Given the description of an element on the screen output the (x, y) to click on. 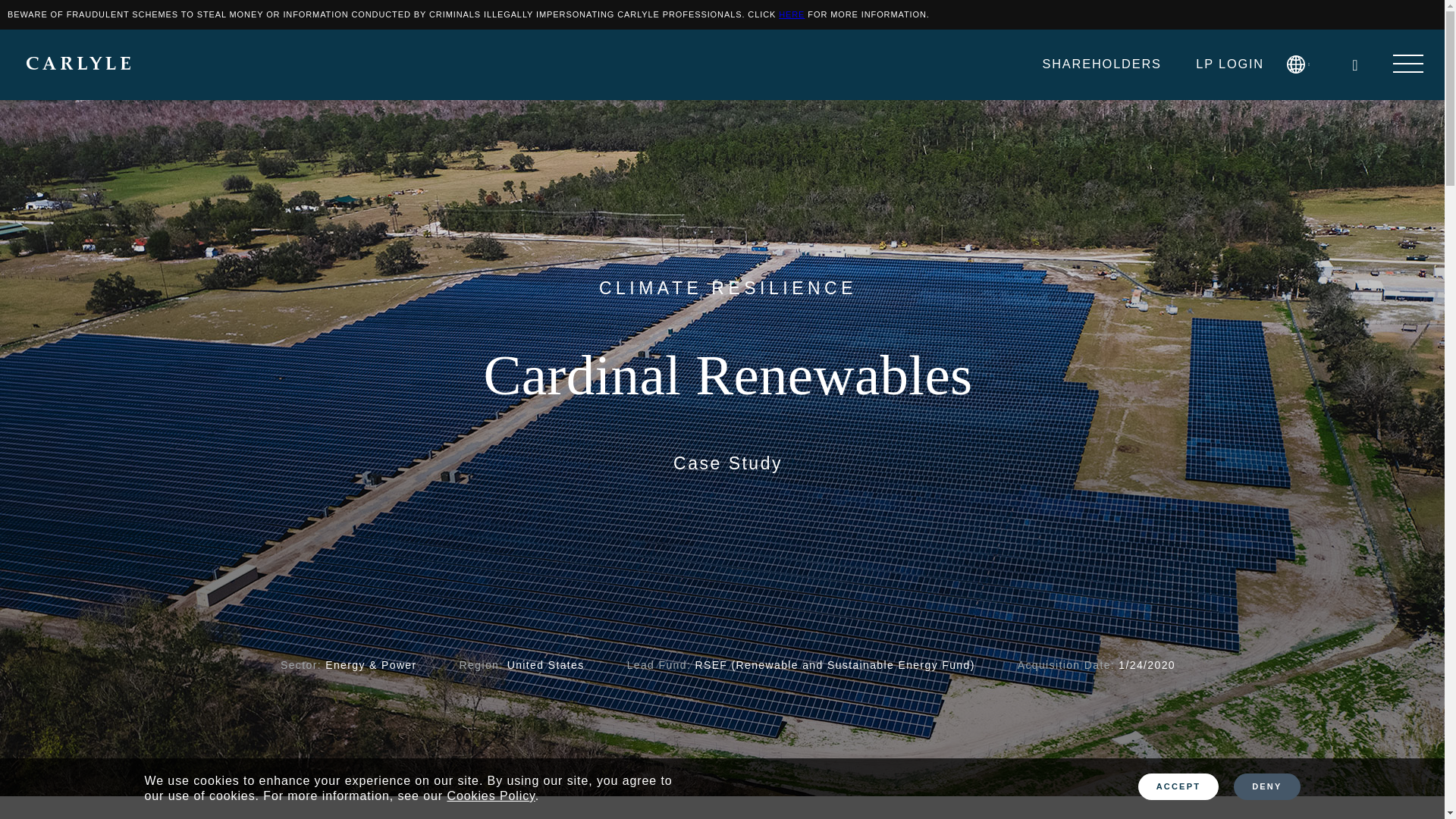
HERE (791, 13)
SHAREHOLDERS (1101, 64)
Language Switcher (1302, 64)
Search (1354, 64)
LP LOGIN (1229, 64)
